Given the description of an element on the screen output the (x, y) to click on. 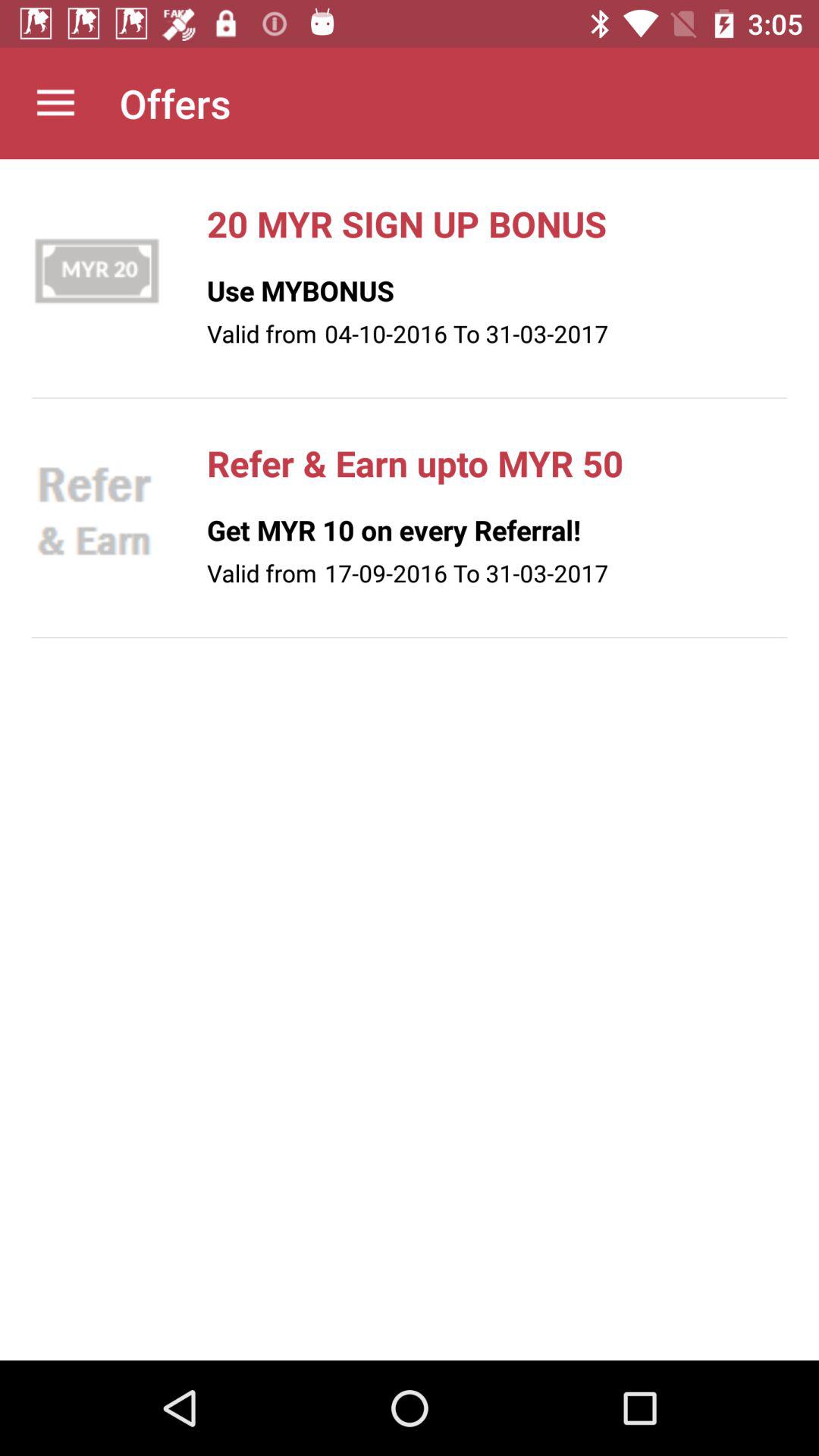
tap icon next to offers icon (55, 103)
